Given the description of an element on the screen output the (x, y) to click on. 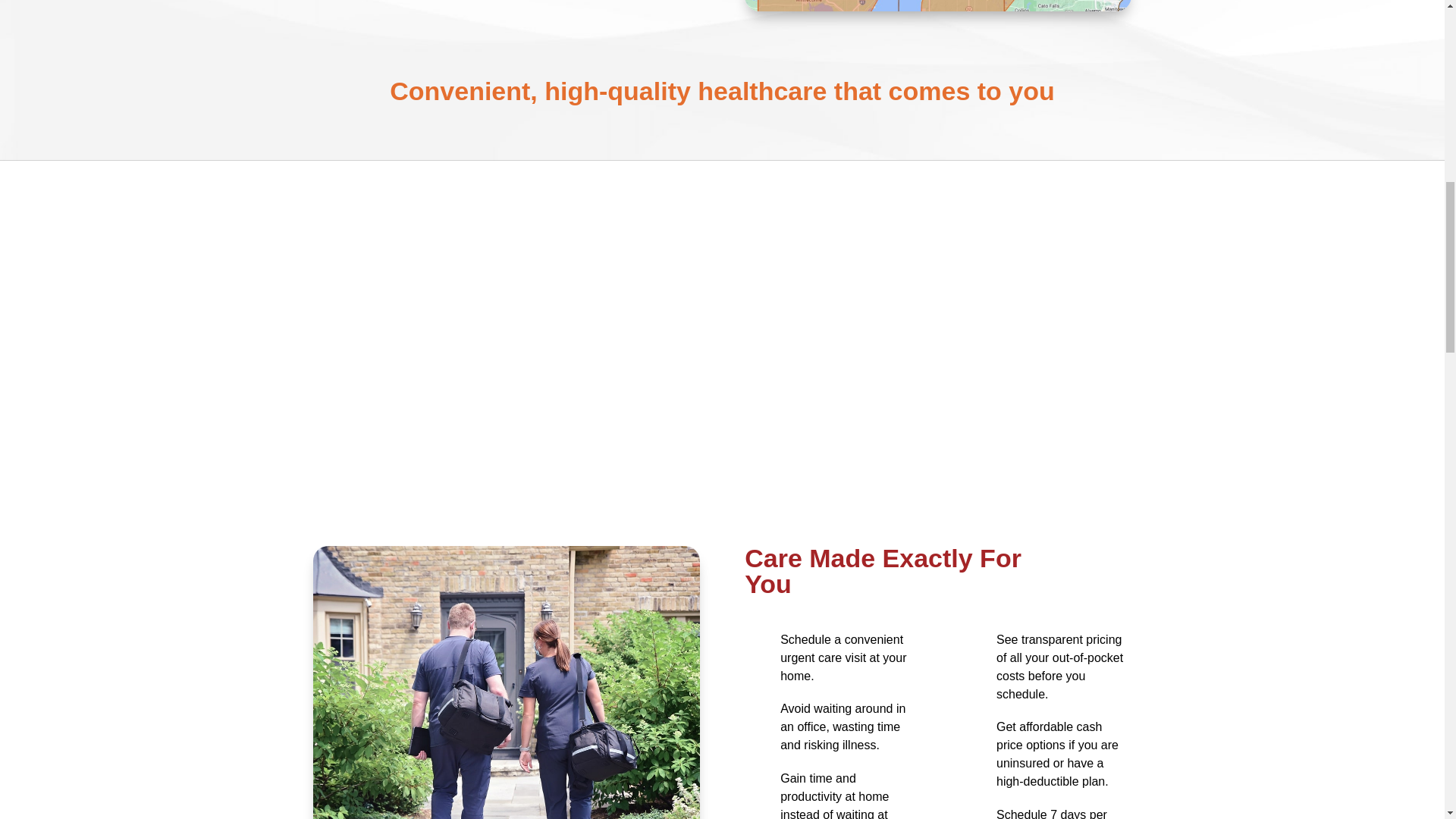
urgent-care-services-min (505, 682)
NEW Map (937, 5)
